Given the description of an element on the screen output the (x, y) to click on. 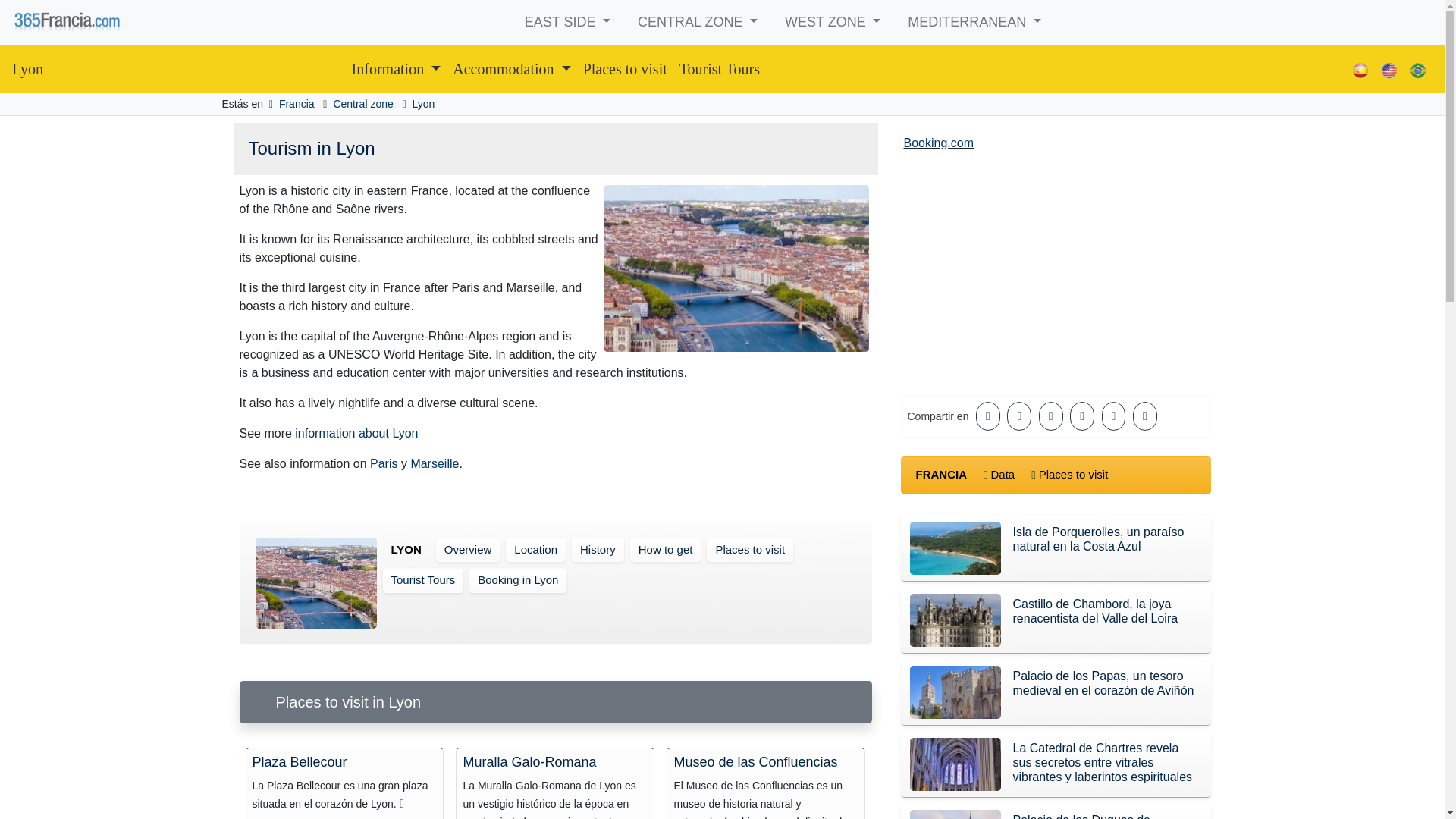
WEST ZONE (832, 21)
Central zone (363, 103)
MEDITERRANEAN (973, 21)
Ciudad de Lyon (423, 103)
information about Lyon (356, 432)
Information (396, 68)
Tourist Tours in Lyon (718, 68)
Lyon (27, 69)
Francia (296, 103)
CENTRAL ZONE (696, 21)
